Given the description of an element on the screen output the (x, y) to click on. 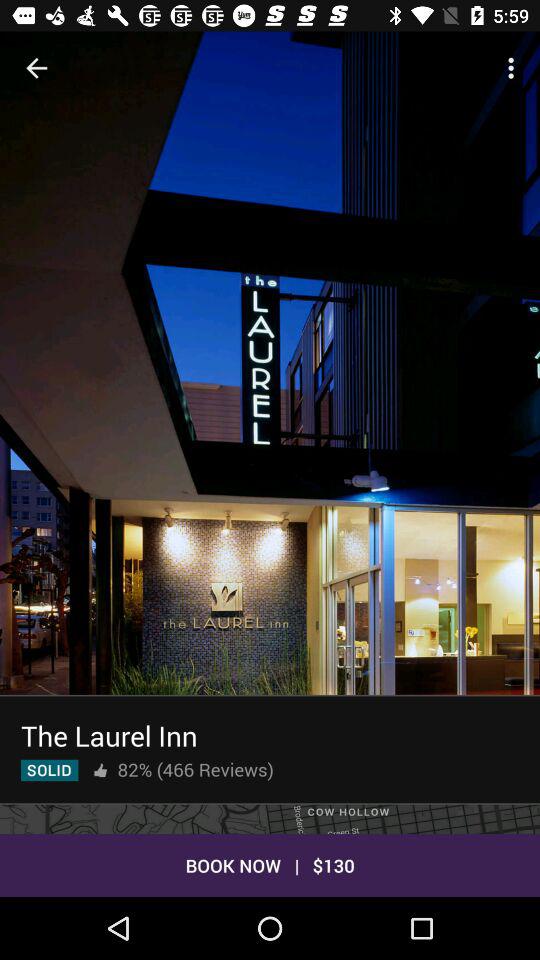
click icon above the laurel inn (270, 399)
